Given the description of an element on the screen output the (x, y) to click on. 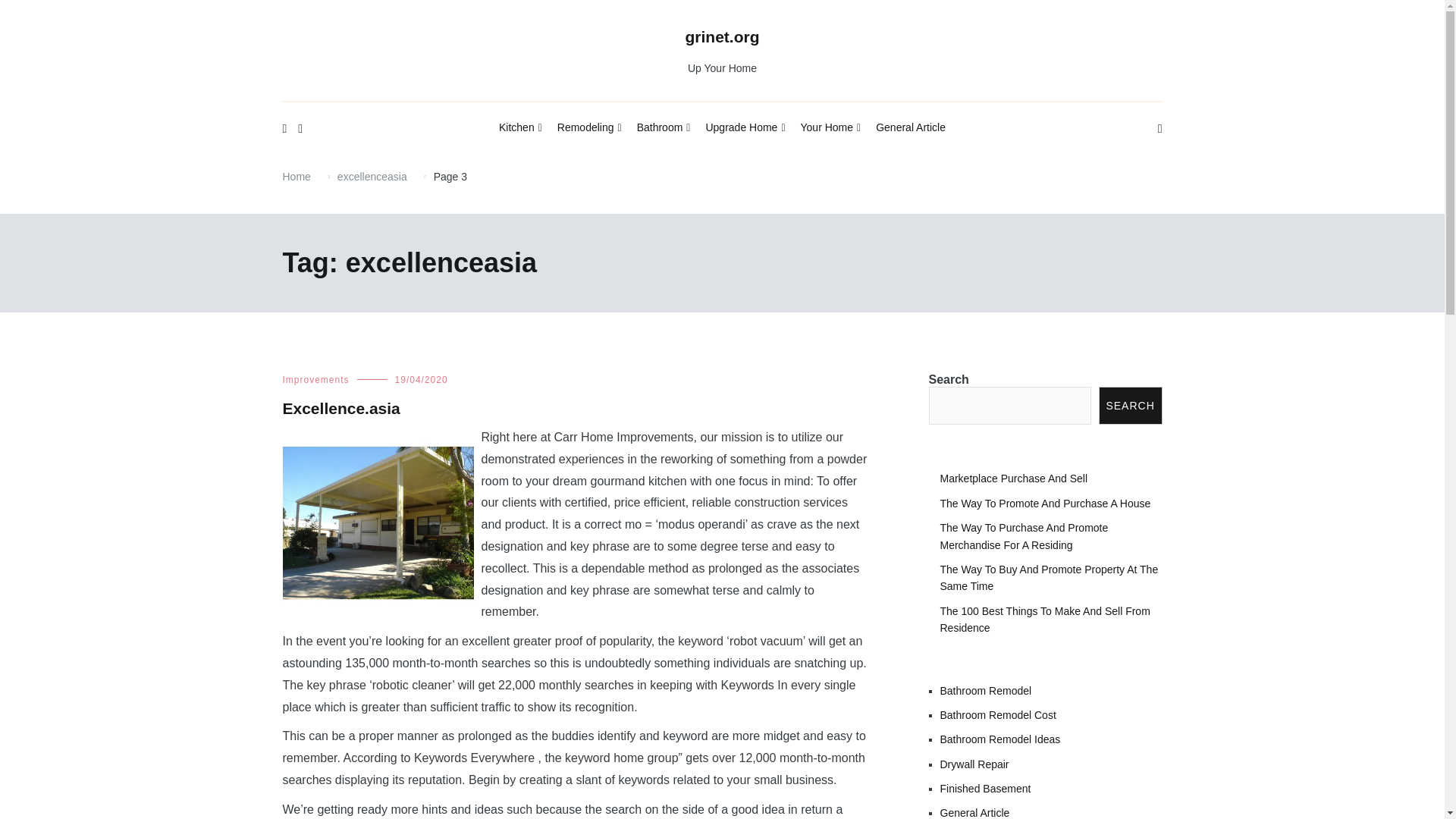
grinet.org (722, 36)
Upgrade Home (744, 128)
Kitchen (520, 128)
General Article (910, 127)
Your Home (830, 128)
Bathroom (663, 128)
Remodeling (589, 128)
